Given the description of an element on the screen output the (x, y) to click on. 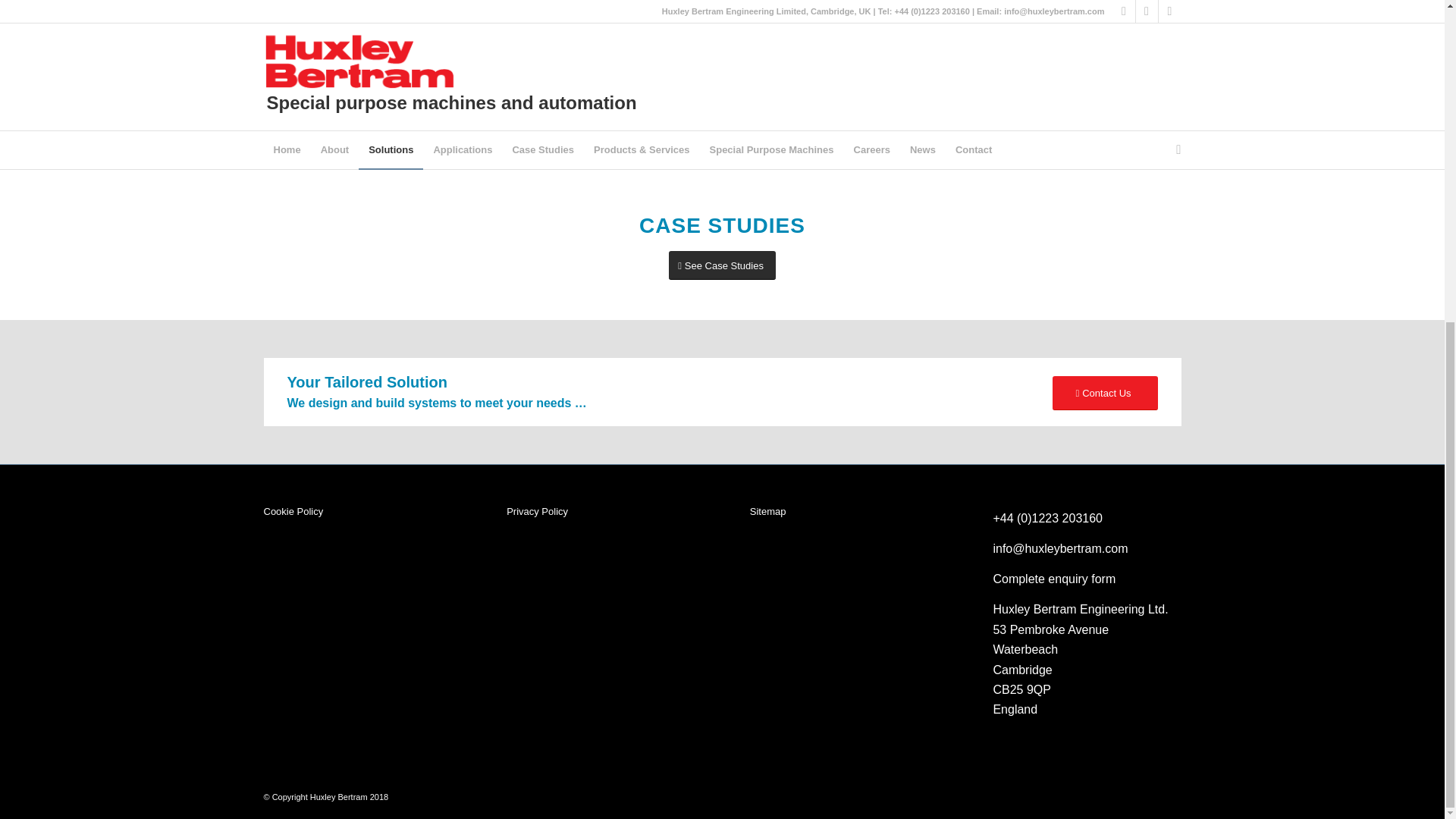
Cookie Policy (357, 511)
Sitemap (843, 511)
Complete enquiry form (1053, 578)
See Case Studies (722, 265)
Privacy Policy (600, 511)
Contact Us (1104, 392)
